Given the description of an element on the screen output the (x, y) to click on. 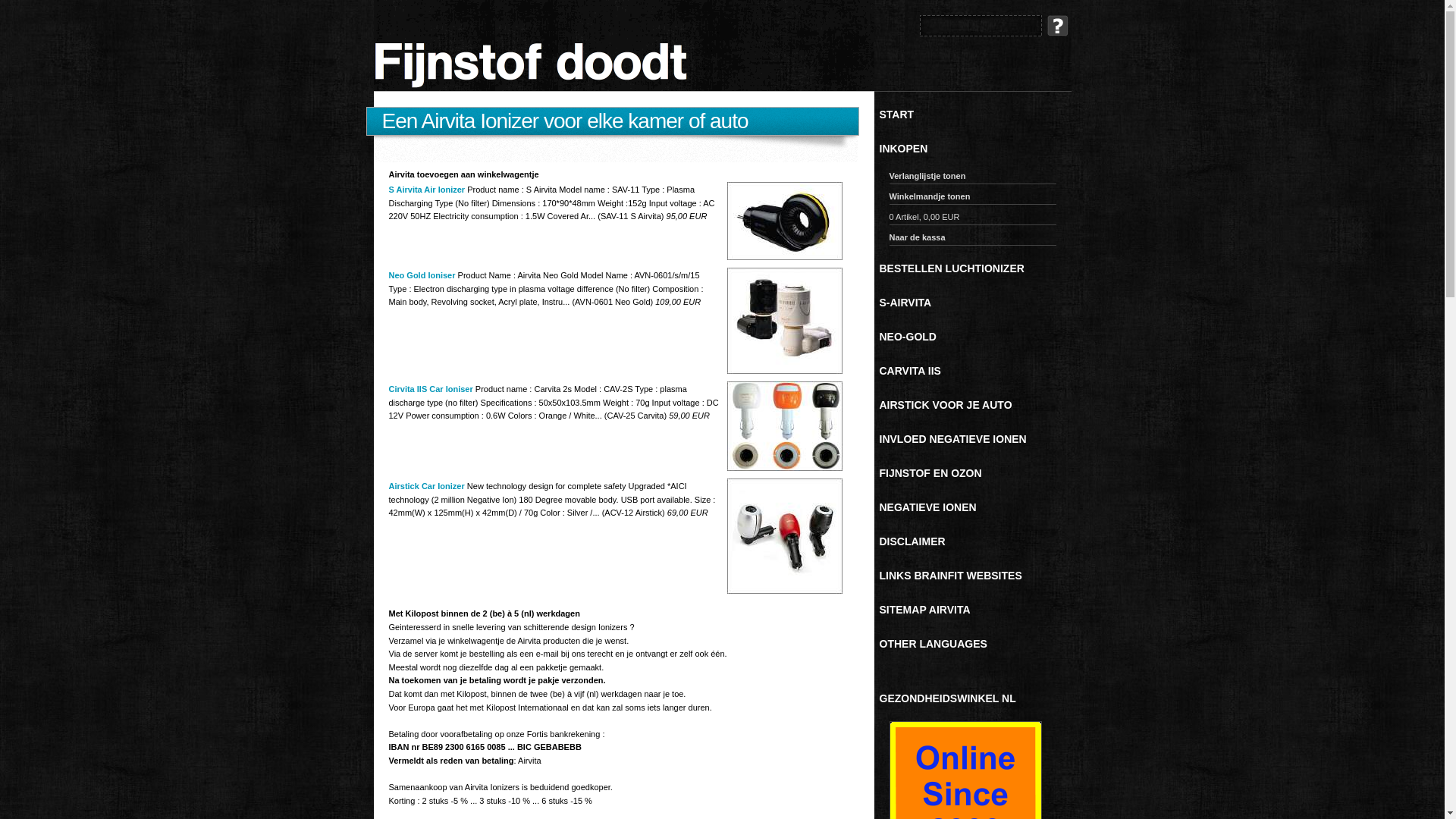
FIJNSTOF EN OZON Element type: text (975, 472)
START Element type: text (975, 114)
NEO-GOLD Element type: text (975, 336)
Airstick Car Ionizer Element type: text (426, 485)
BESTELLEN LUCHTIONIZER Element type: text (975, 268)
NEGATIEVE IONEN Element type: text (975, 506)
Winkelmandje tonen Element type: text (971, 197)
S Airvita Air Ionizer Element type: text (426, 189)
LINKS BRAINFIT WEBSITES Element type: text (975, 575)
AIRSTICK VOOR JE AUTO Element type: text (975, 404)
Cirvita IIS Car Ioniser Element type: text (430, 388)
S-AIRVITA Element type: text (975, 302)
SITEMAP AIRVITA Element type: text (975, 609)
DISCLAIMER Element type: text (975, 541)
Naar de kassa Element type: text (971, 238)
INVLOED NEGATIEVE IONEN Element type: text (975, 438)
Verlanglijstje tonen Element type: text (971, 177)
CARVITA IIS Element type: text (975, 370)
Neo Gold Ioniser Element type: text (421, 274)
